Given the description of an element on the screen output the (x, y) to click on. 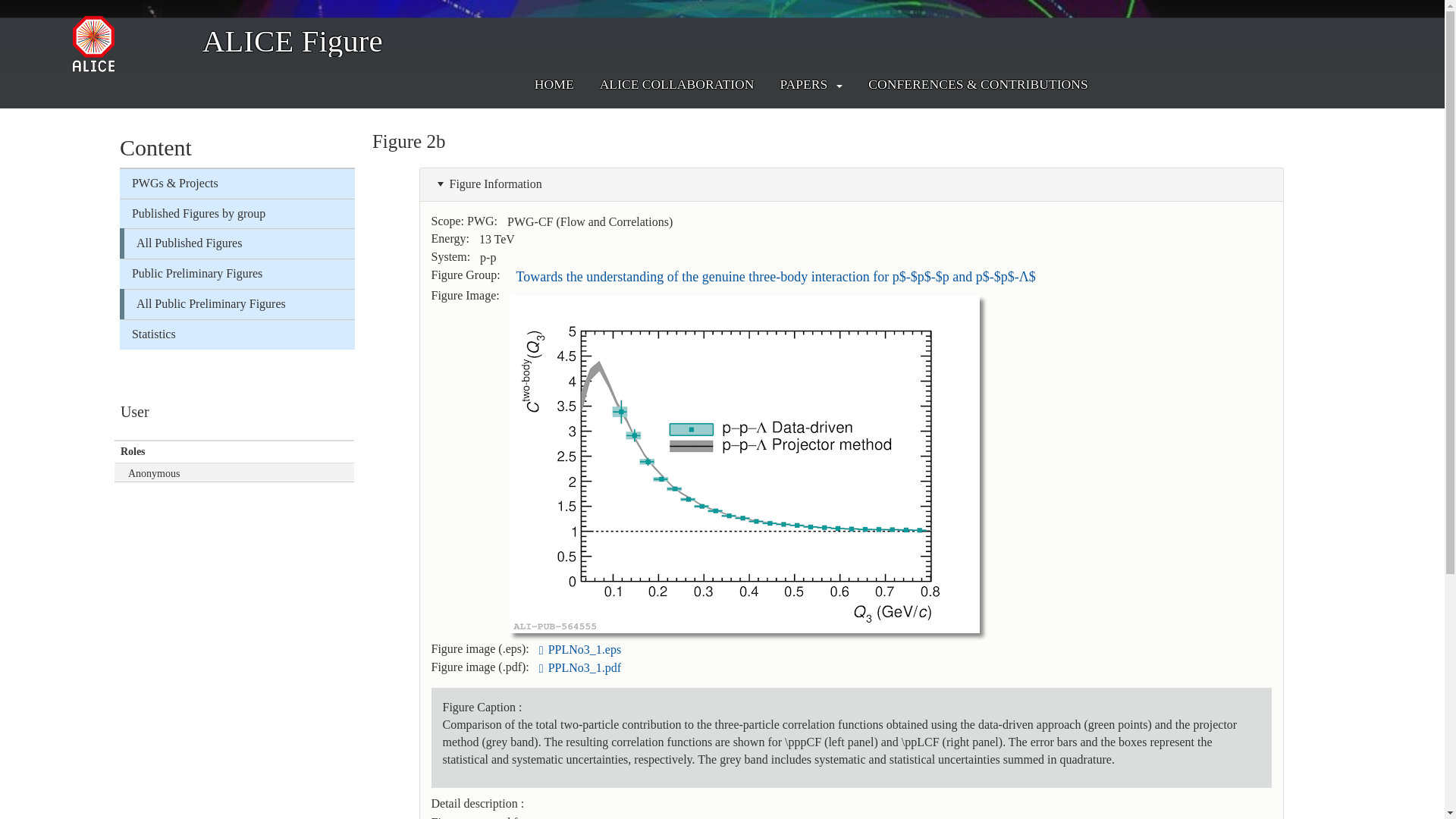
Home (292, 39)
Statistics (237, 334)
Figure Information (485, 183)
All Published Figures (239, 243)
Public Preliminary Figures (237, 274)
CERN (133, 14)
ALICE Figure (292, 39)
CERN Accelerating science (133, 14)
Open file in new window (584, 649)
Home (132, 43)
